Given the description of an element on the screen output the (x, y) to click on. 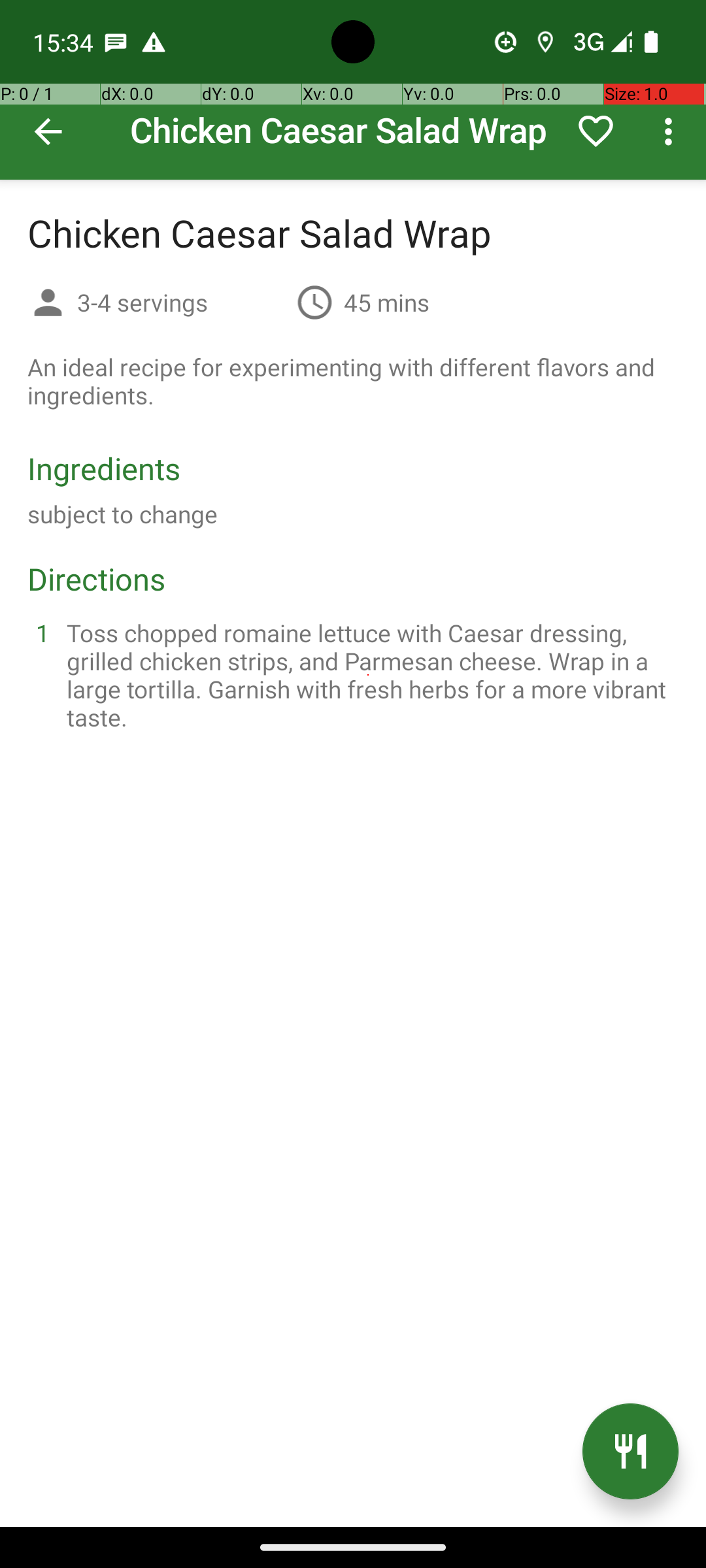
Chicken Caesar Salad Wrap Element type: android.widget.FrameLayout (353, 89)
45 mins Element type: android.widget.TextView (386, 301)
subject to change Element type: android.widget.TextView (122, 513)
Toss chopped romaine lettuce with Caesar dressing, grilled chicken strips, and Parmesan cheese. Wrap in a large tortilla. Garnish with fresh herbs for a more vibrant taste. Element type: android.widget.TextView (368, 674)
